Given the description of an element on the screen output the (x, y) to click on. 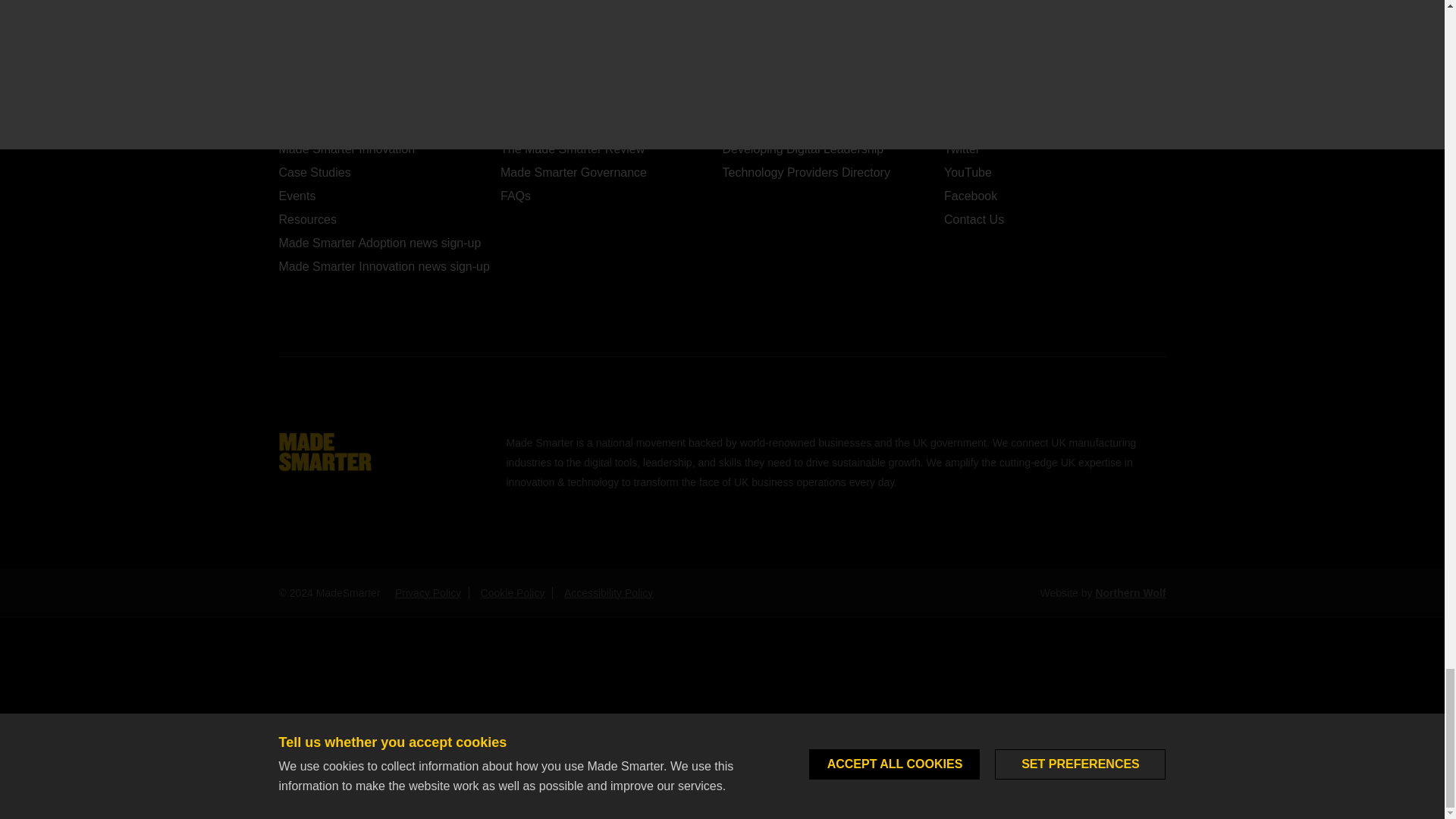
Home (325, 450)
